Given the description of an element on the screen output the (x, y) to click on. 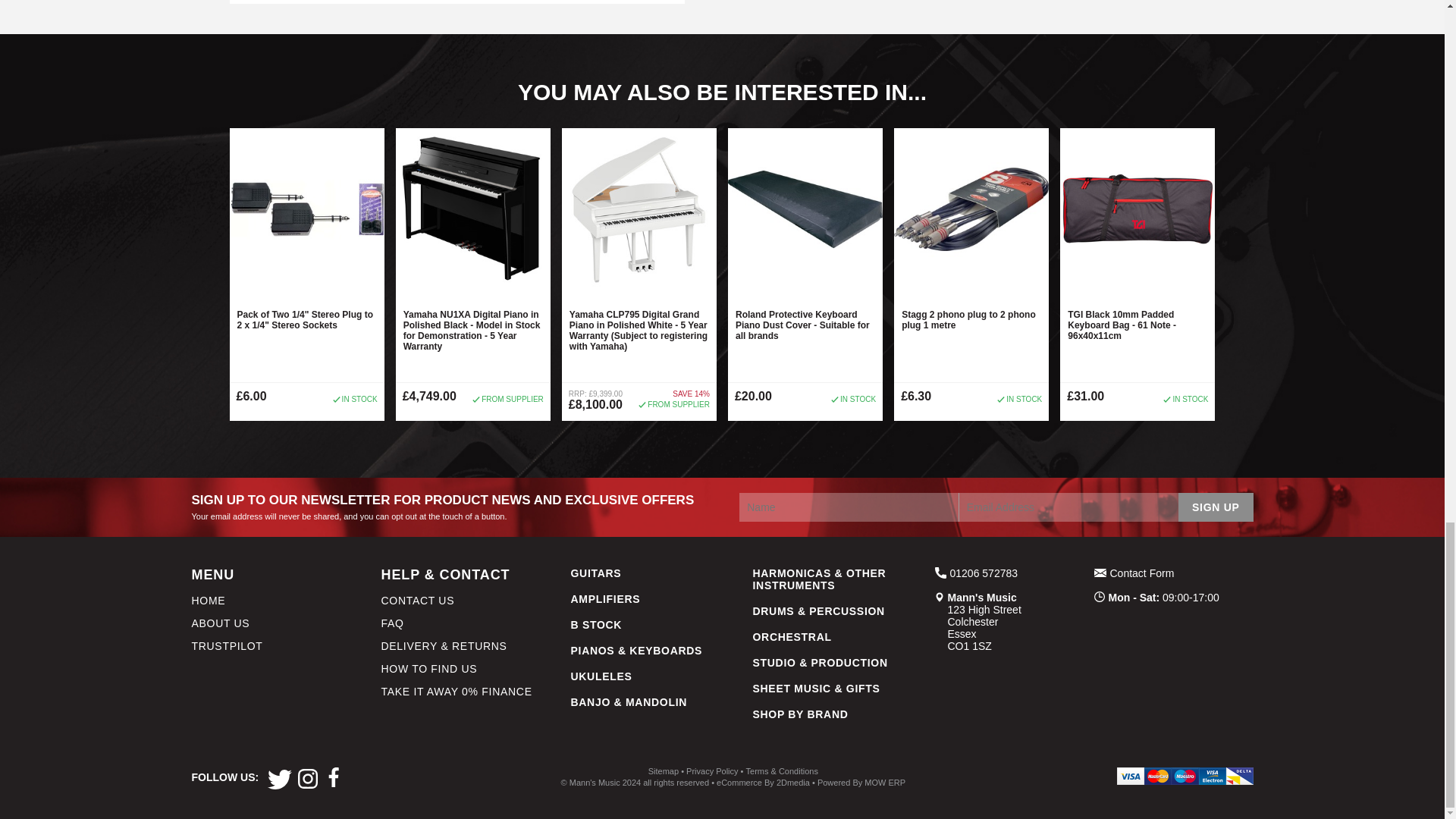
TGI Black 10mm Padded Keyboard Bag - 61 Note - 96x40x11cm (1136, 208)
Stagg 2 phono plug to 2 phono plug 1 metre (970, 208)
Stagg 2 phono plug to 2 phono plug 1 metre (971, 322)
